Given the description of an element on the screen output the (x, y) to click on. 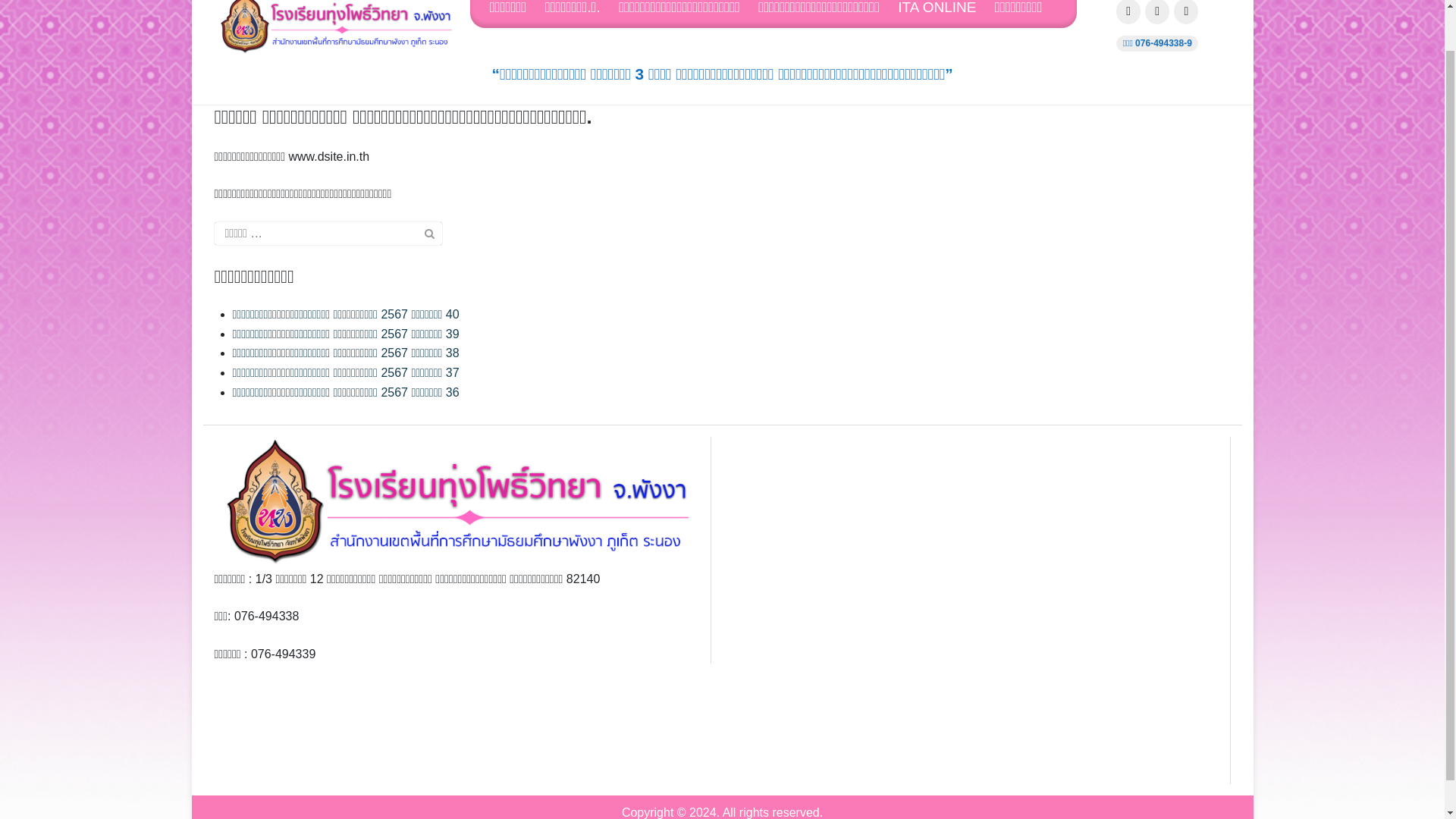
ITA ONLINE (944, 13)
